Given the description of an element on the screen output the (x, y) to click on. 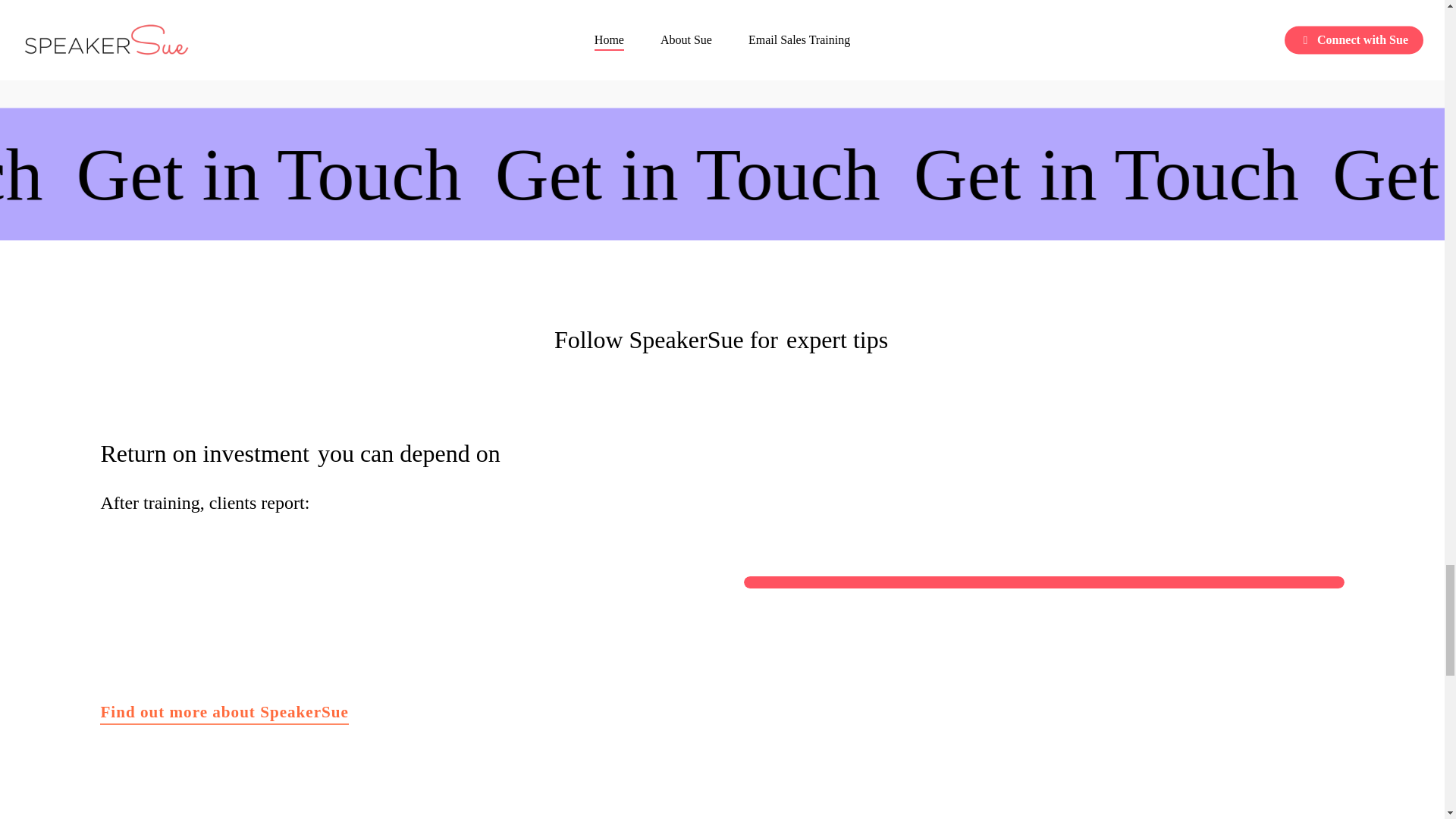
Get in Touch (1311, 172)
Get in Touch (154, 173)
Get in Touch (1305, 173)
Get in Touch (715, 173)
Get in Touch (936, 172)
Get in Touch (521, 173)
Find out more about SpeakerSue (715, 173)
Get in Touch (941, 173)
